Given the description of an element on the screen output the (x, y) to click on. 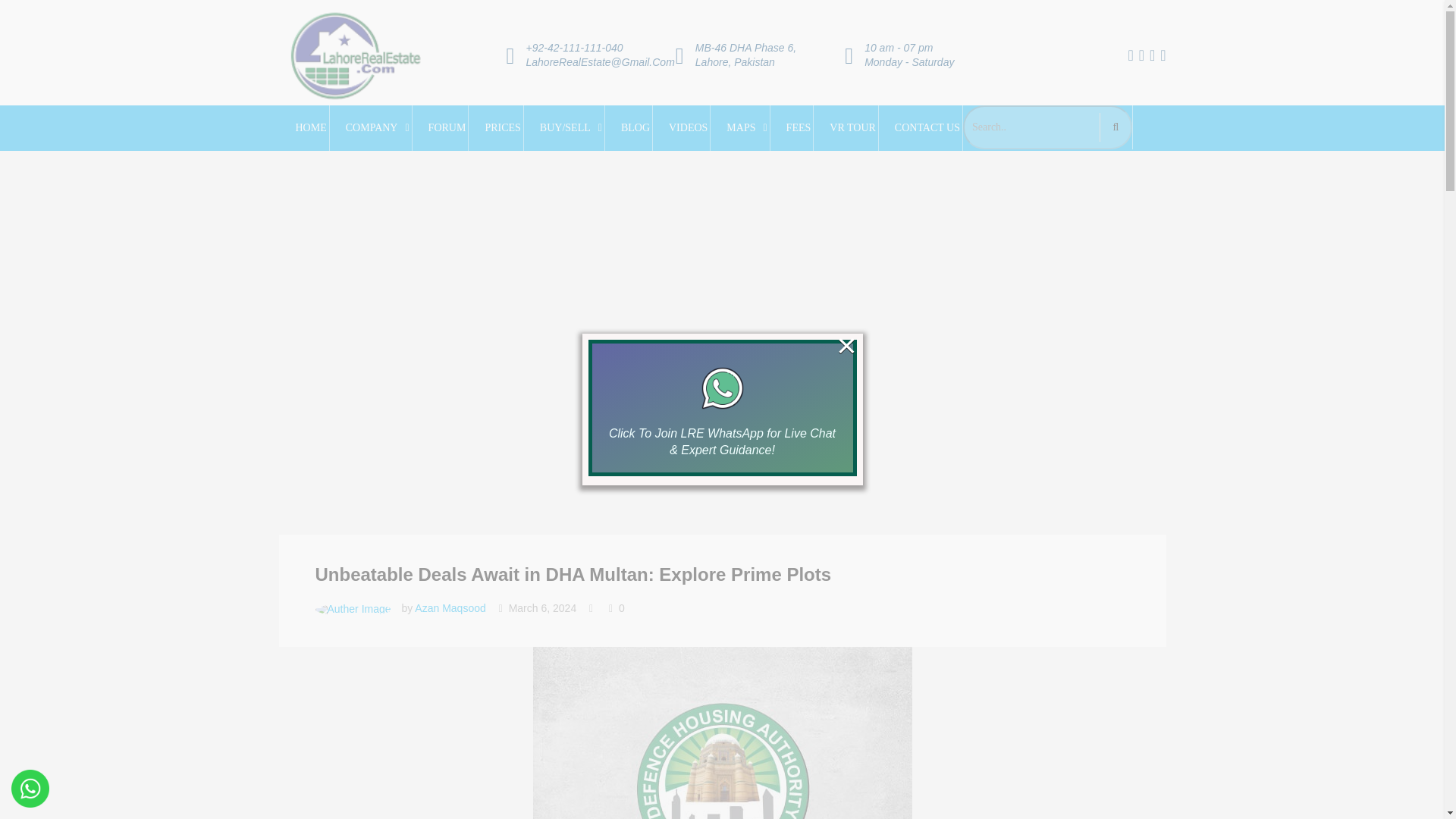
CONTACT US (927, 127)
LRE WhatsApp Chat (722, 387)
FORUM (447, 127)
PRICES (501, 127)
VIDEOS (688, 127)
COMPANY (377, 127)
BLOG (635, 127)
HOME (310, 127)
MAPS (745, 127)
VR TOUR (852, 127)
FEES (798, 127)
